Given the description of an element on the screen output the (x, y) to click on. 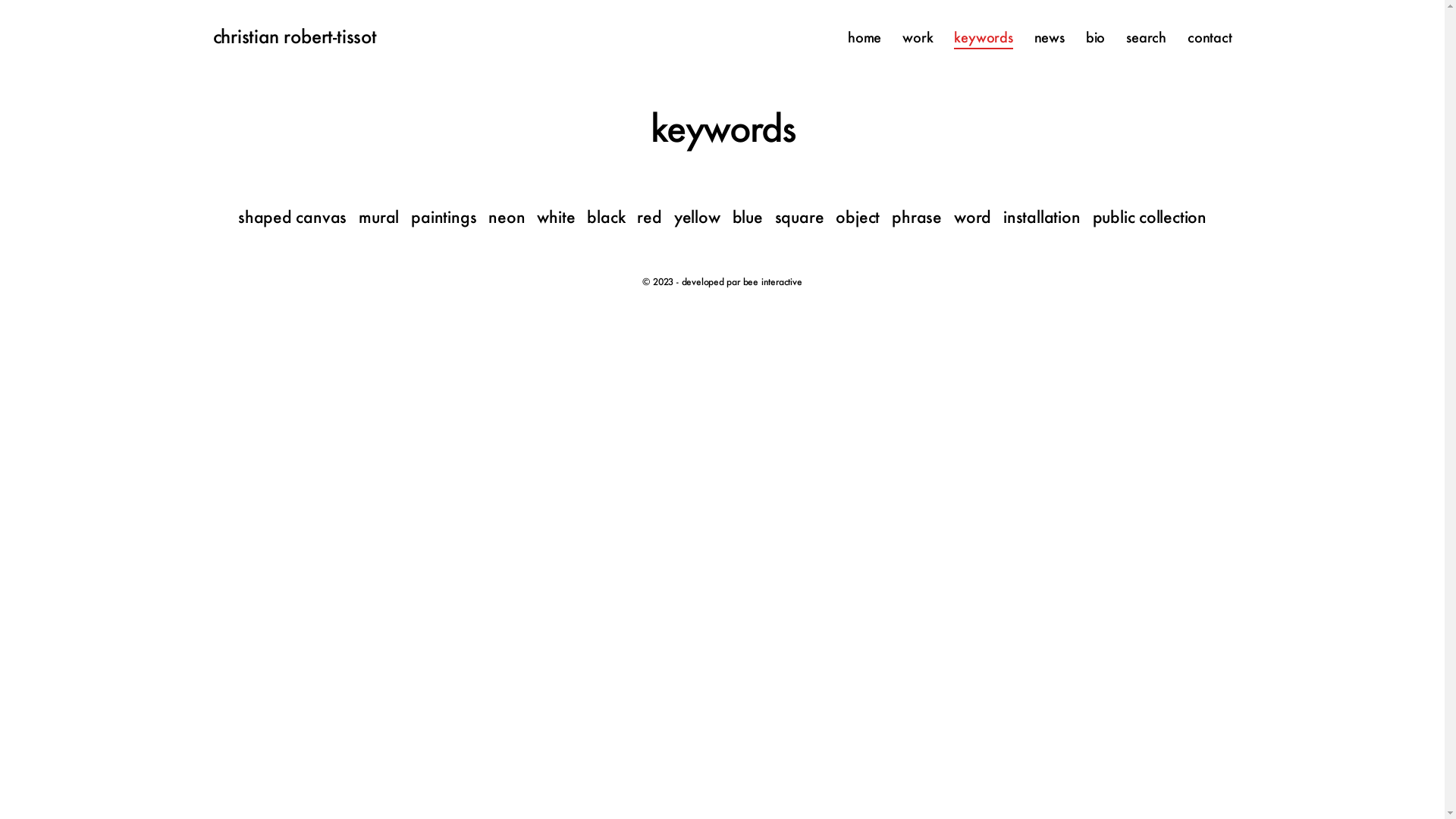
news Element type: text (1049, 37)
public collection Element type: text (1149, 216)
shaped canvas Element type: text (292, 216)
bee interactive Element type: text (772, 283)
black Element type: text (605, 216)
white Element type: text (555, 216)
word Element type: text (972, 216)
neon Element type: text (506, 216)
red Element type: text (649, 216)
blue Element type: text (747, 216)
bio Element type: text (1094, 37)
paintings Element type: text (443, 216)
mural Element type: text (378, 216)
christian robert-tissot Element type: text (294, 37)
phrase Element type: text (916, 216)
contact Element type: text (1209, 37)
square Element type: text (799, 216)
object Element type: text (857, 216)
home Element type: text (864, 37)
keywords Element type: text (982, 37)
yellow Element type: text (697, 216)
installation Element type: text (1041, 216)
search Element type: text (1146, 37)
work Element type: text (917, 37)
